Given the description of an element on the screen output the (x, y) to click on. 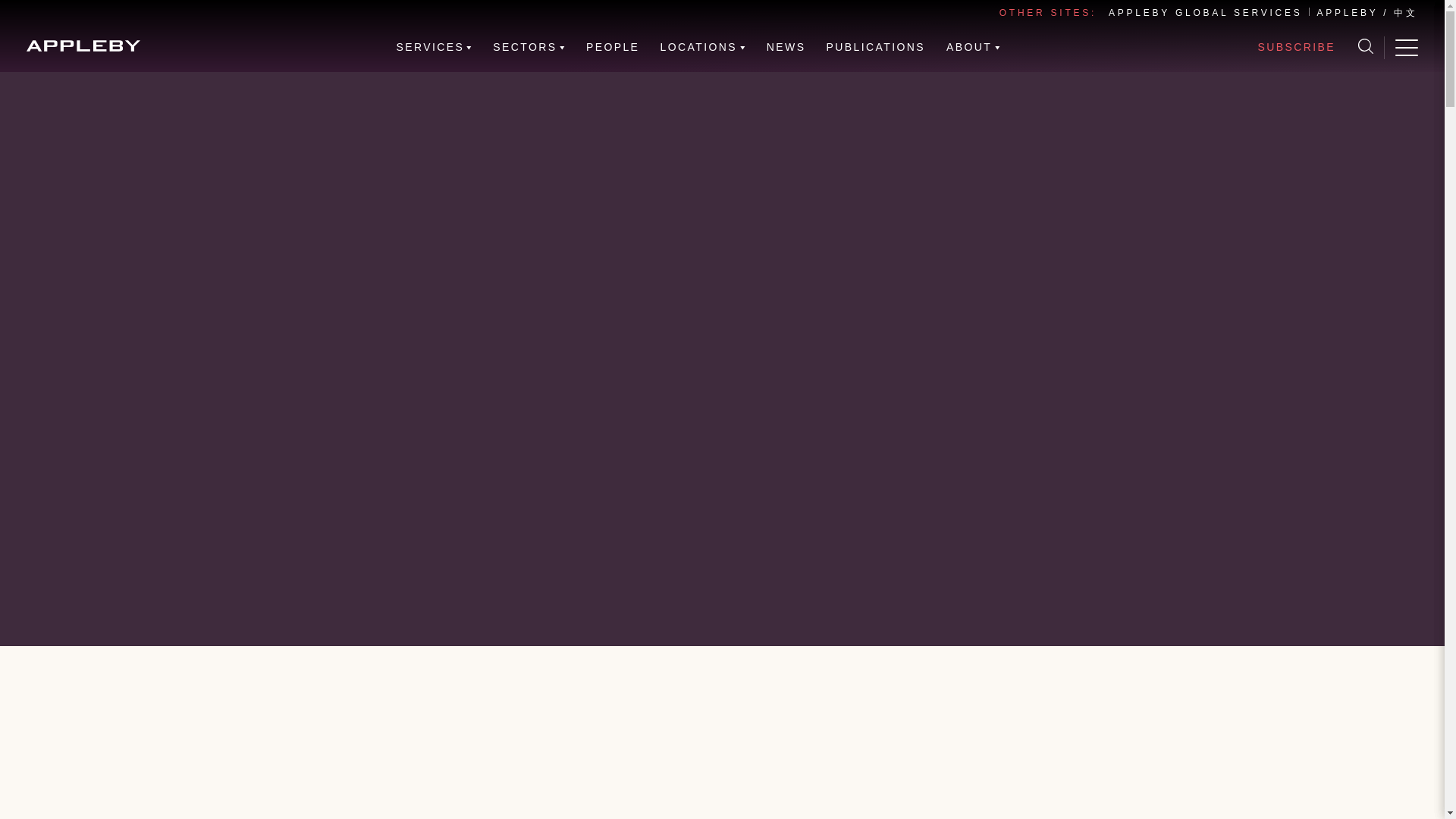
SERVICES (435, 47)
SECTORS (529, 47)
APPLEBY GLOBAL SERVICES (1204, 12)
